Given the description of an element on the screen output the (x, y) to click on. 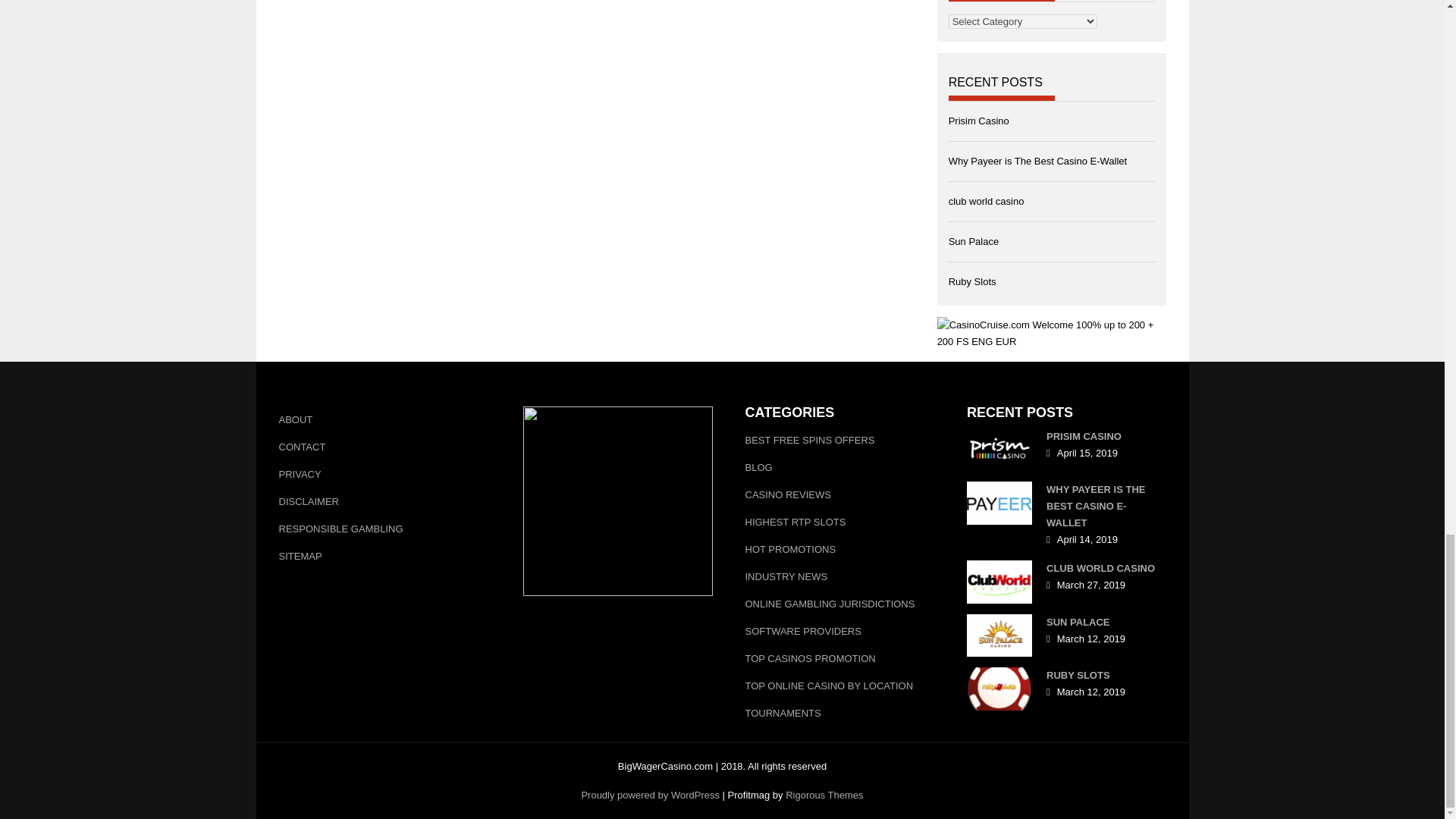
Why Payeer is The Best Casino E-Wallet (1037, 161)
Prisim Casino (979, 120)
Ruby Slots (972, 281)
Sun Palace (973, 241)
ABOUT (389, 420)
club world casino (987, 201)
